Given the description of an element on the screen output the (x, y) to click on. 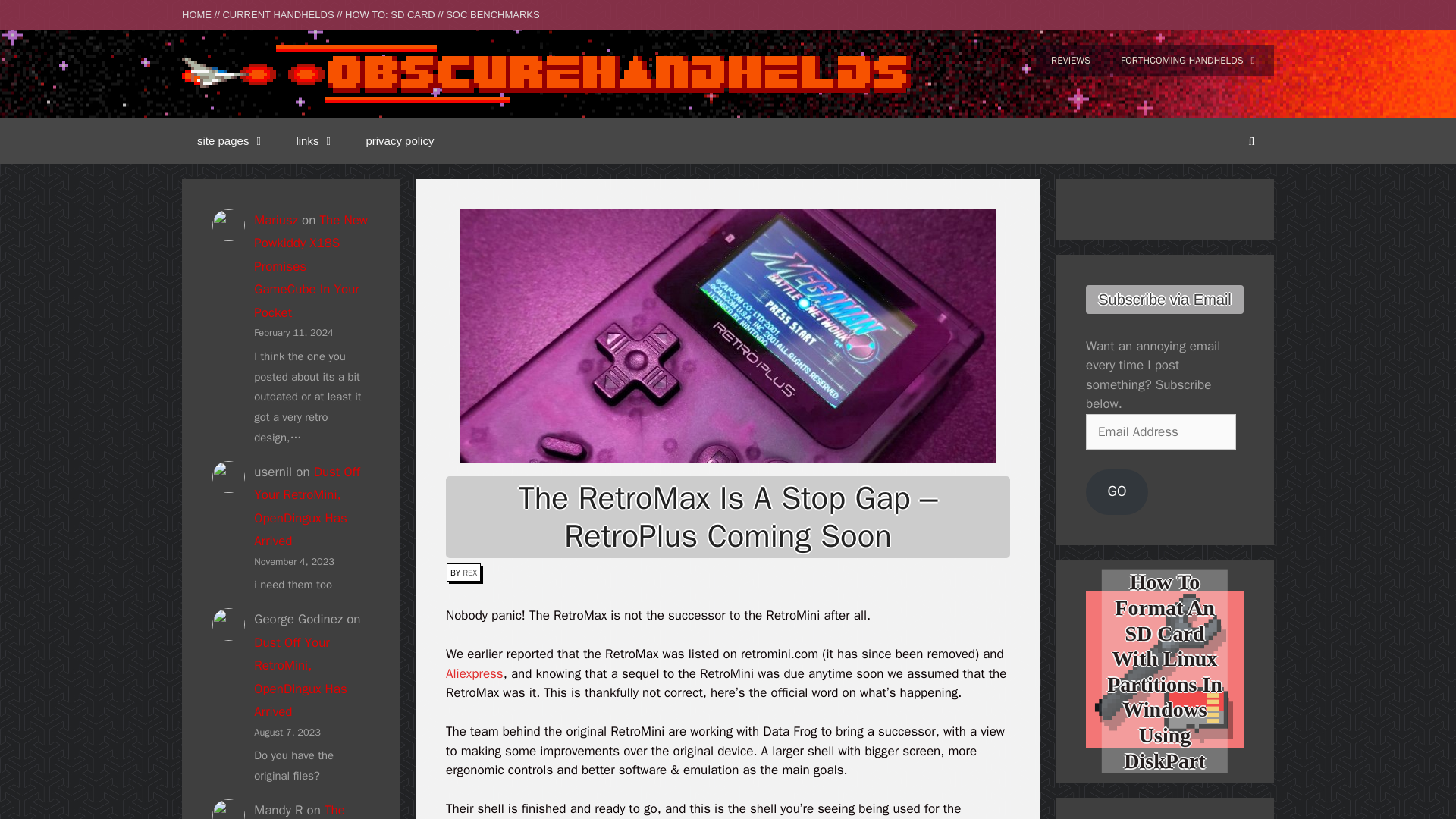
REVIEWS (1070, 60)
HOME (196, 14)
site pages (231, 140)
SOC BENCHMARKS (492, 14)
links (315, 140)
View all posts by Rex (470, 572)
CURRENT HANDHELDS (277, 14)
HOW TO: SD CARD (390, 14)
FORTHCOMING HANDHELDS (1189, 60)
